Given the description of an element on the screen output the (x, y) to click on. 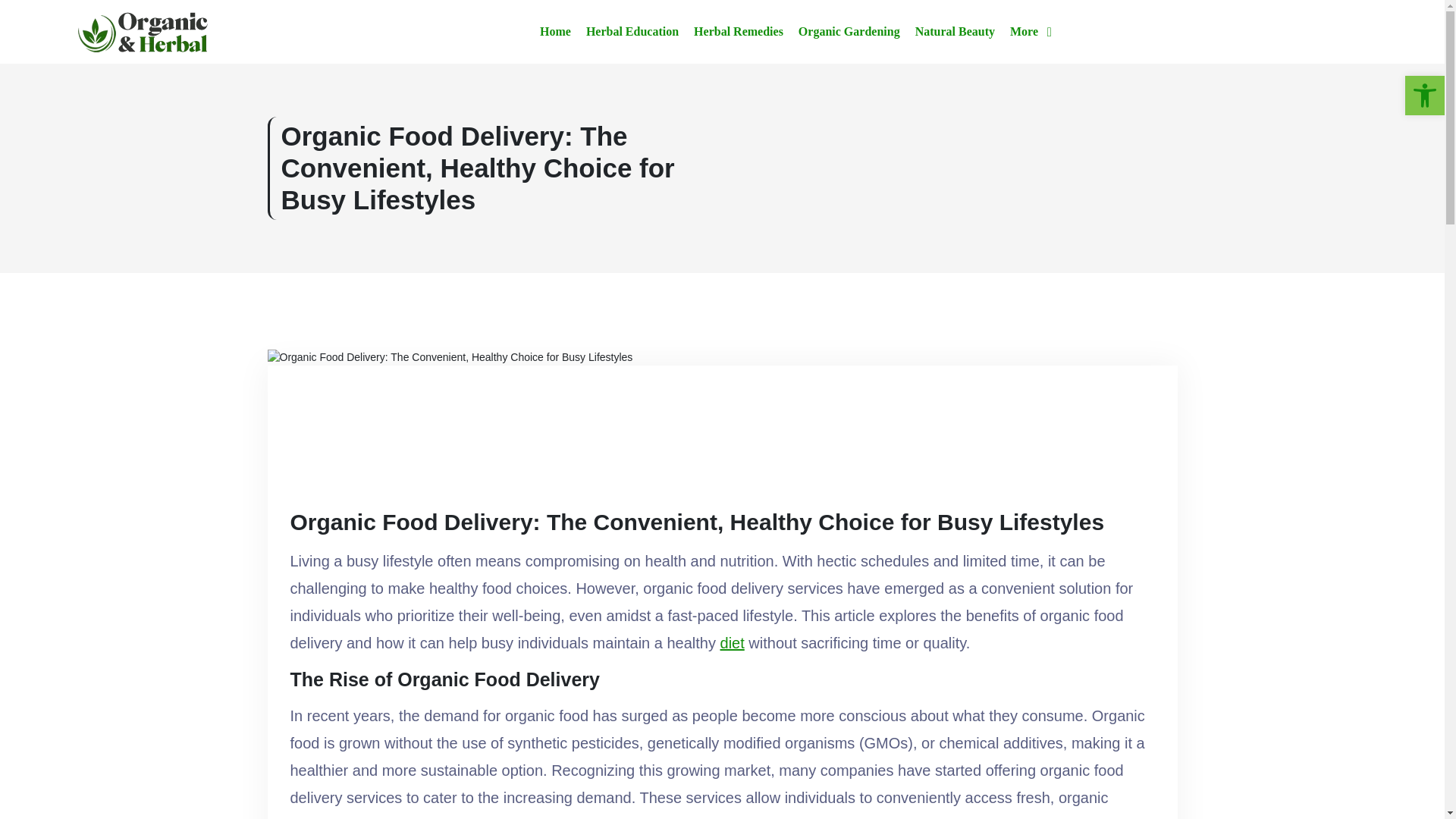
Herbal Remedies (738, 31)
Herbal Education (632, 31)
diet (732, 642)
Herbal Remedies (738, 31)
diet (732, 642)
Natural Beauty (954, 31)
Natural Beauty (954, 31)
Accessibility Tools (1424, 95)
Organic Gardening (848, 31)
Organic Gardening (848, 31)
Herbal Education (632, 31)
